Given the description of an element on the screen output the (x, y) to click on. 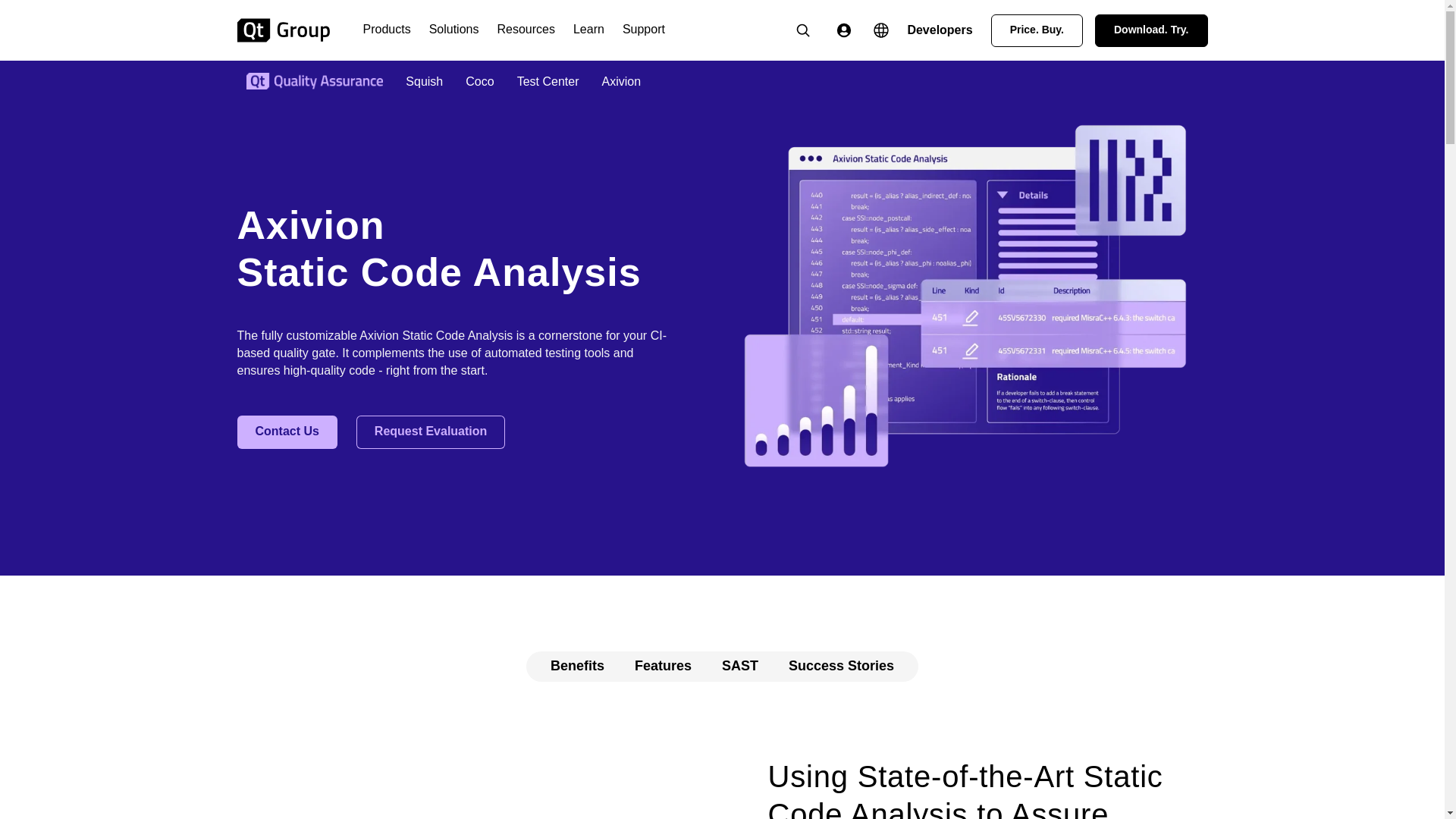
Products (386, 29)
Solutions (454, 29)
Resources (525, 29)
